Given the description of an element on the screen output the (x, y) to click on. 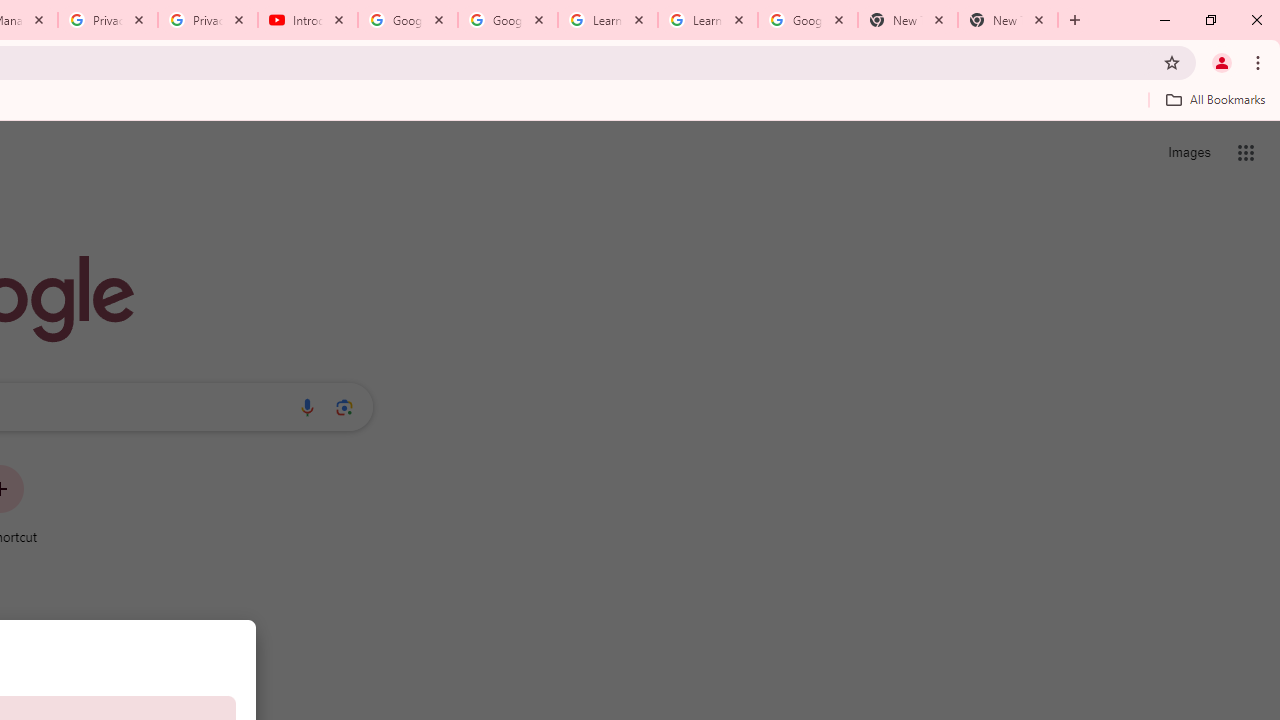
Google Account (807, 20)
Introduction | Google Privacy Policy - YouTube (308, 20)
New Tab (907, 20)
New Tab (1007, 20)
